Given the description of an element on the screen output the (x, y) to click on. 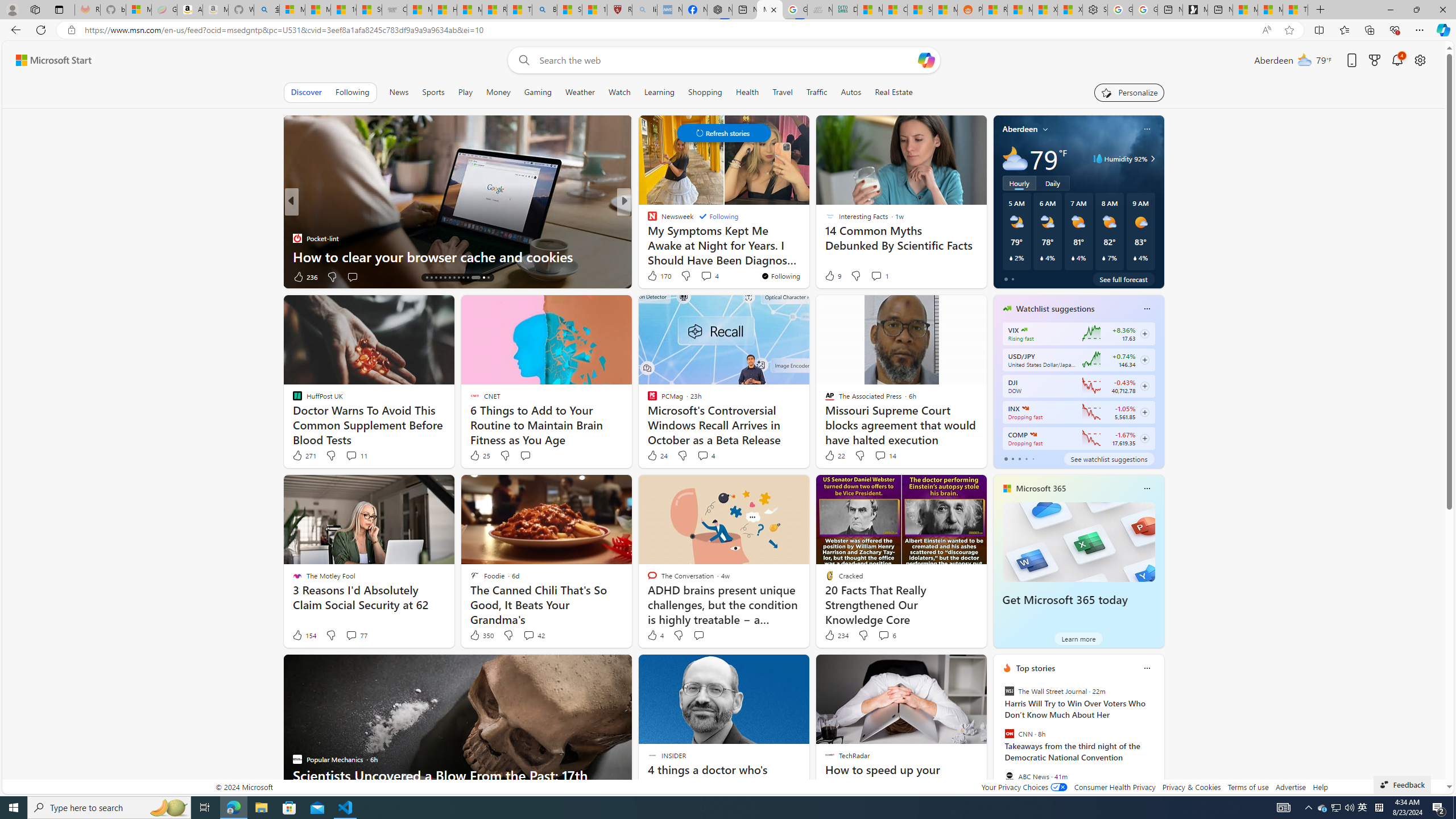
AutomationID: tab-25 (480, 277)
View comments 11 Comment (355, 455)
View comments 85 Comment (6, 276)
Traffic (816, 92)
Money (497, 92)
AutomationID: tab-17 (440, 277)
View comments 34 Comment (703, 276)
tab-0 (1005, 458)
170 Like (658, 275)
S&P 500 (1025, 407)
